Given the description of an element on the screen output the (x, y) to click on. 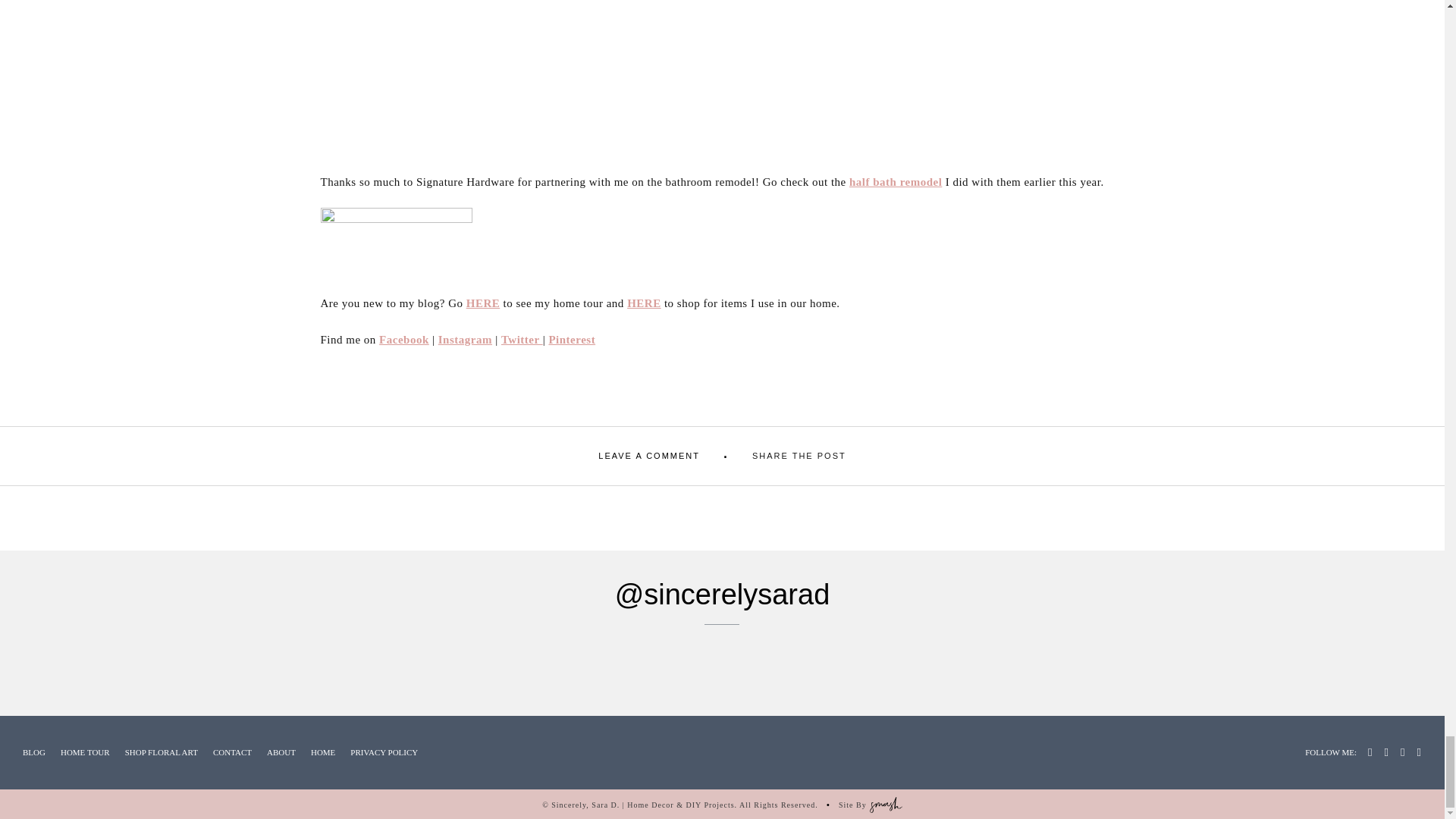
Twitter  (521, 339)
half bath remodel (895, 182)
LEAVE A COMMENT (649, 455)
Instagram (465, 339)
LEAVE A COMMENT (649, 455)
Pinterest (571, 339)
HERE (482, 303)
Facebook (403, 339)
HERE (644, 303)
